Given the description of an element on the screen output the (x, y) to click on. 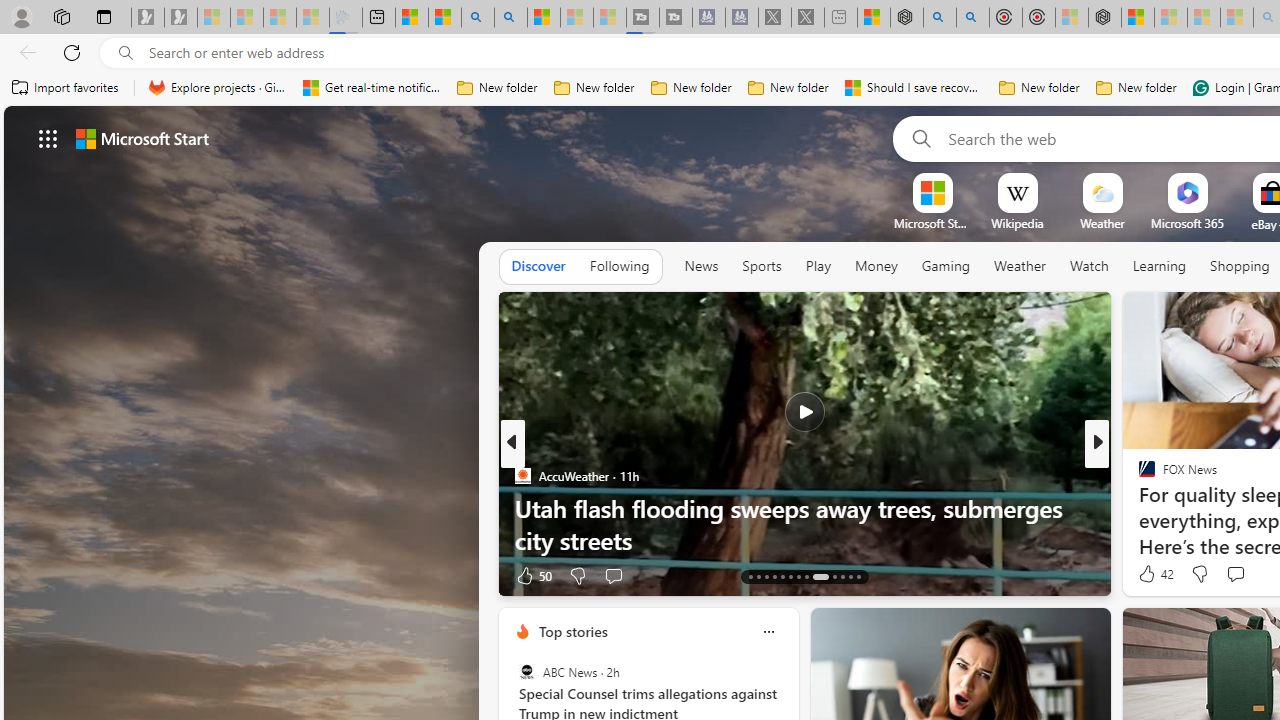
The Daily Beast (1138, 475)
AutomationID: tab-22 (833, 576)
poe ++ standard - Search (973, 17)
AutomationID: tab-14 (757, 576)
New folder (1136, 88)
Watch (1089, 267)
View comments 124 Comment (1234, 575)
Top stories (572, 631)
Start the conversation (1235, 574)
